Given the description of an element on the screen output the (x, y) to click on. 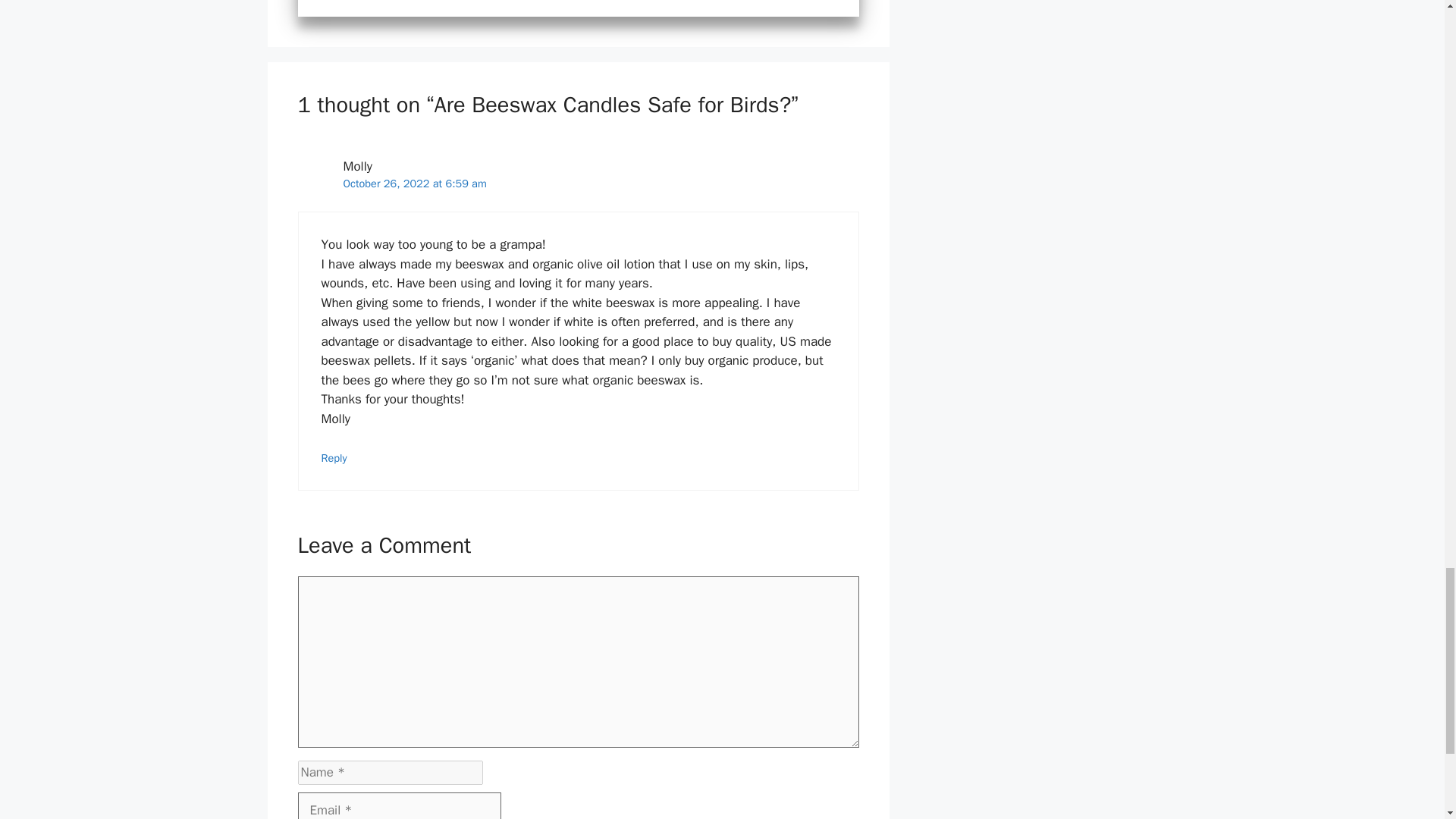
October 26, 2022 at 6:59 am (414, 183)
Reply (334, 458)
